Given the description of an element on the screen output the (x, y) to click on. 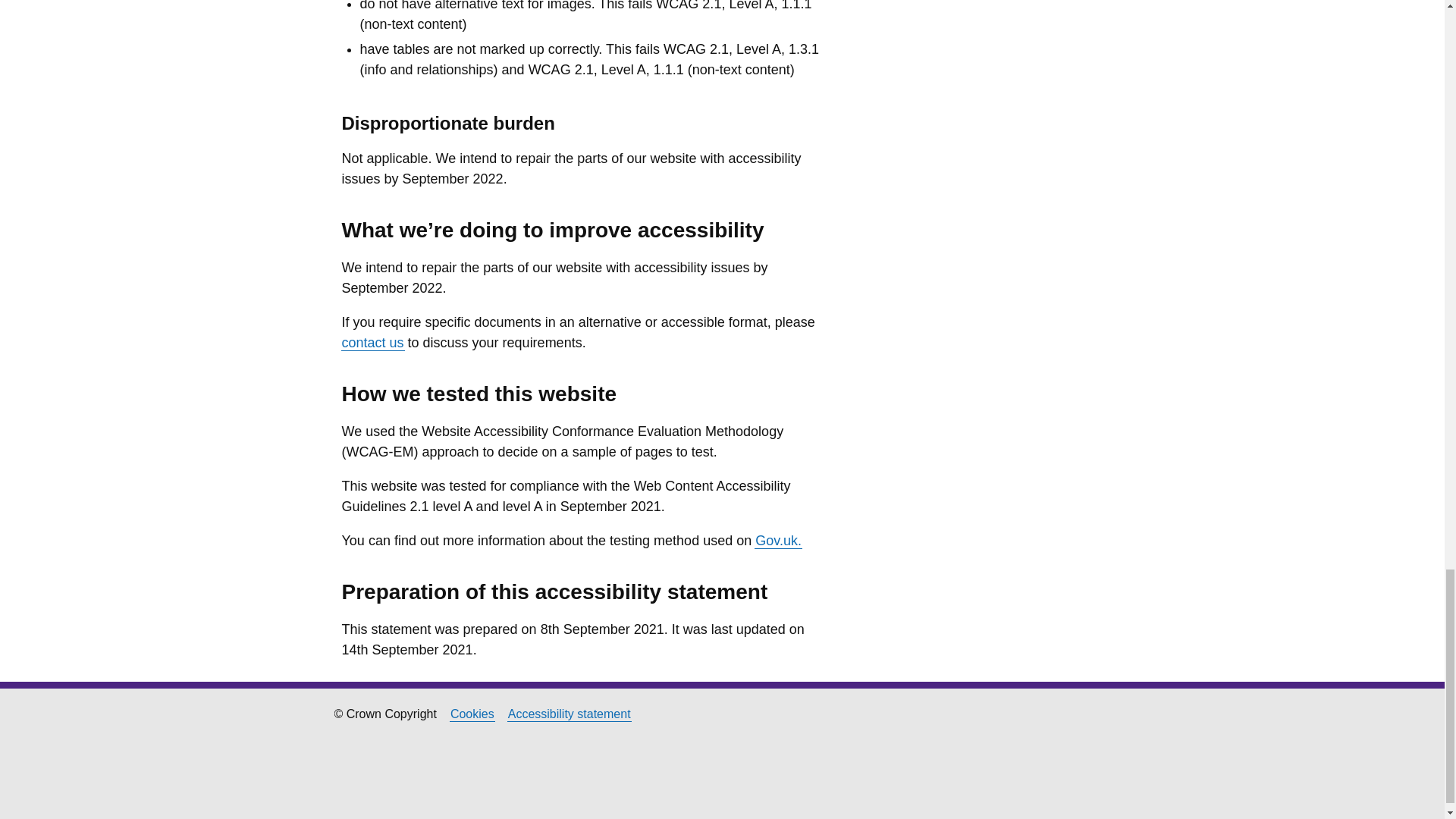
contact us (372, 342)
Gov.uk. (778, 540)
Accessibility statement (568, 714)
Cookies (472, 714)
